Given the description of an element on the screen output the (x, y) to click on. 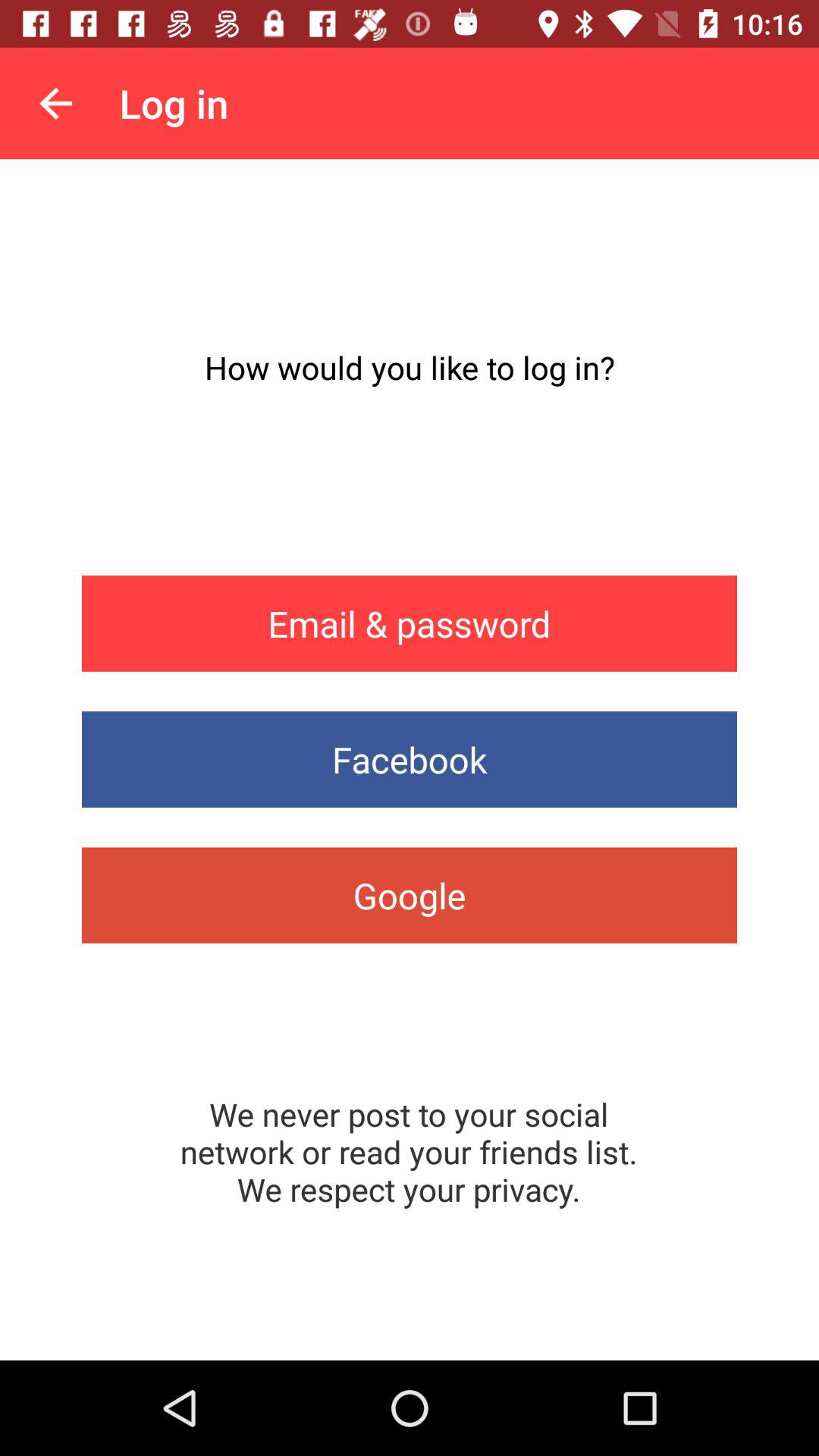
press app below the email & password item (409, 759)
